Given the description of an element on the screen output the (x, y) to click on. 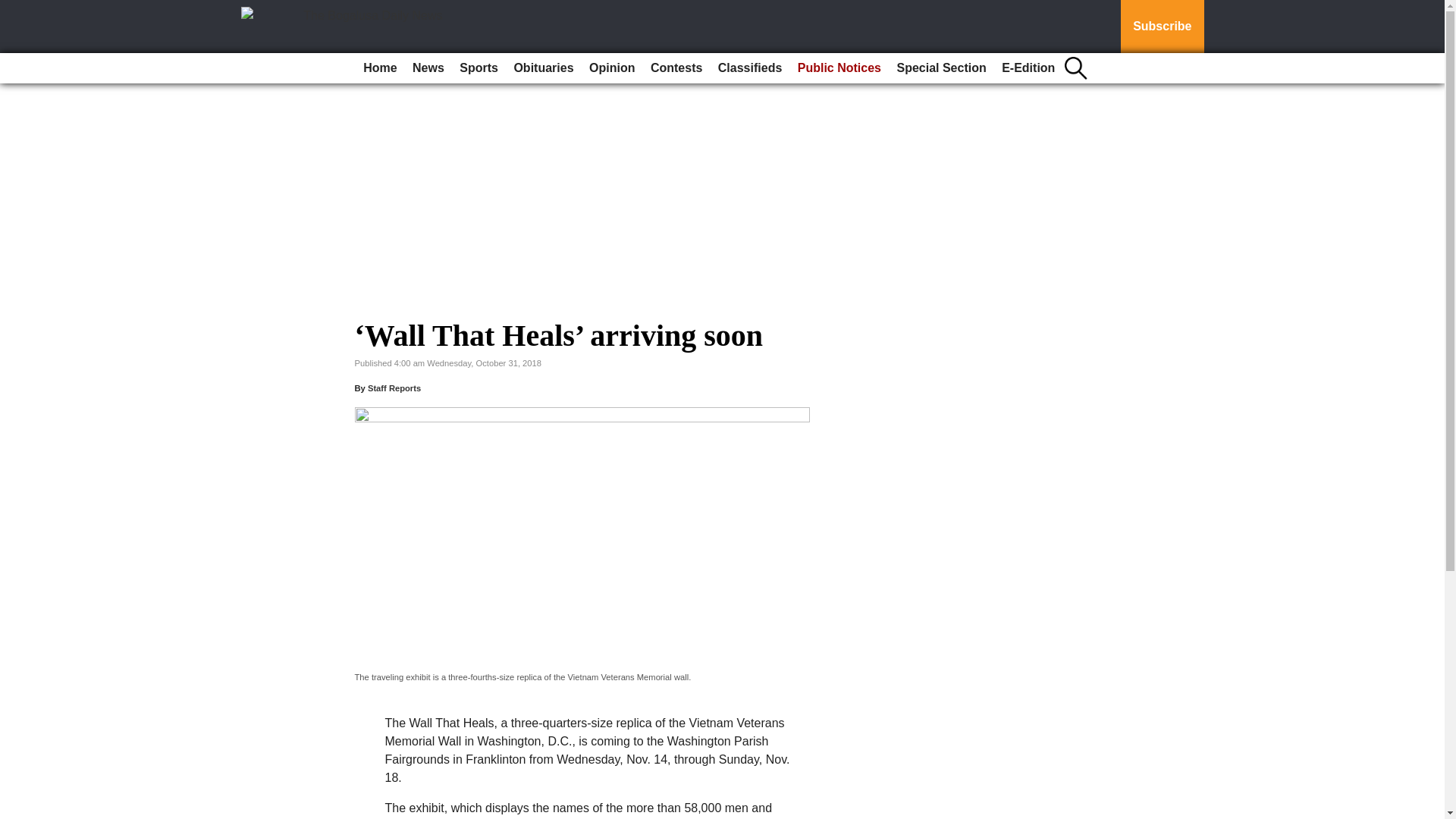
Special Section (940, 68)
Obituaries (542, 68)
Home (379, 68)
Subscribe (1162, 26)
Public Notices (839, 68)
Contests (676, 68)
E-Edition (1028, 68)
Sports (477, 68)
Staff Reports (394, 388)
Go (13, 9)
